Given the description of an element on the screen output the (x, y) to click on. 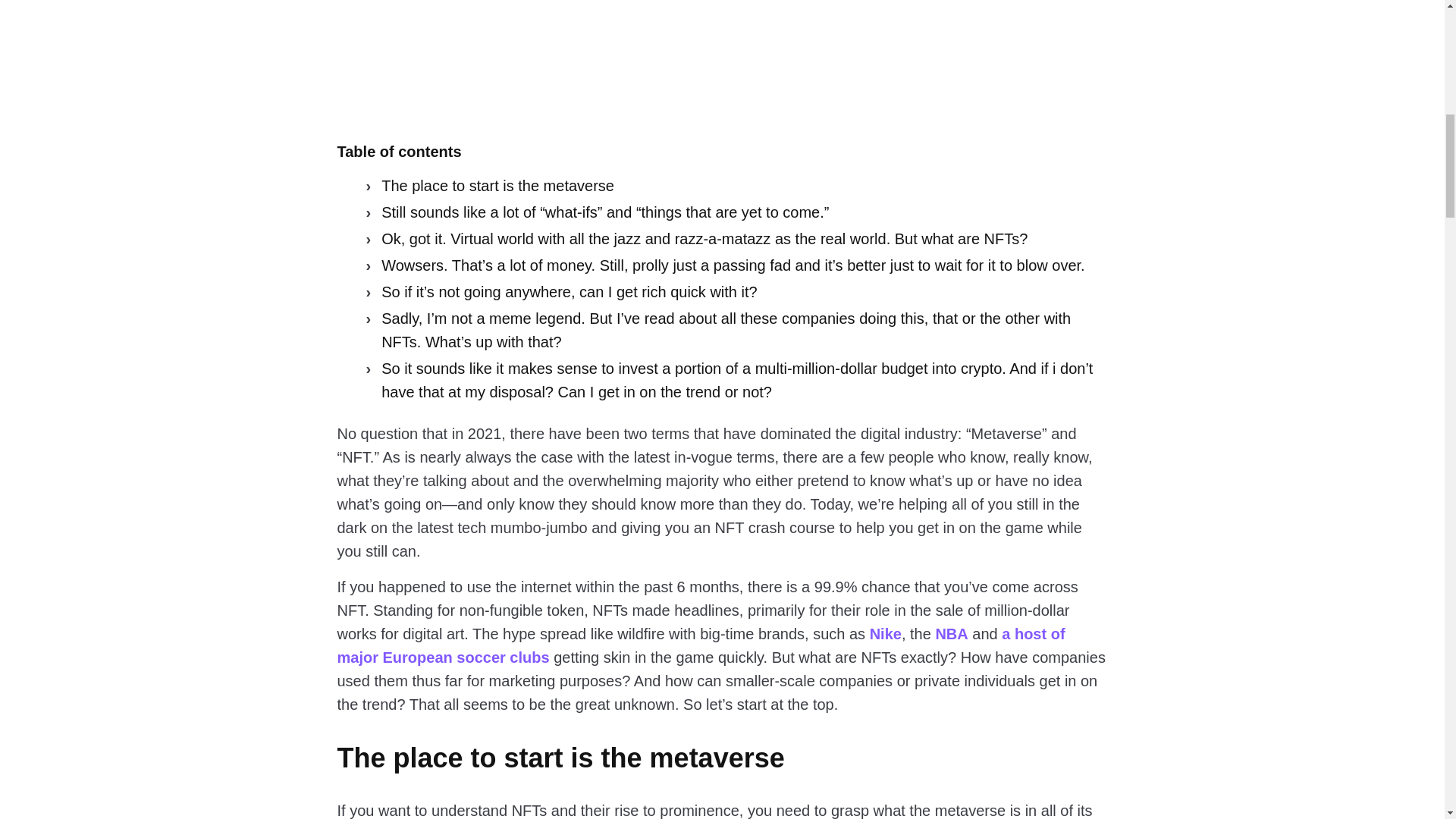
The place to start is the metaverse (492, 186)
